Given the description of an element on the screen output the (x, y) to click on. 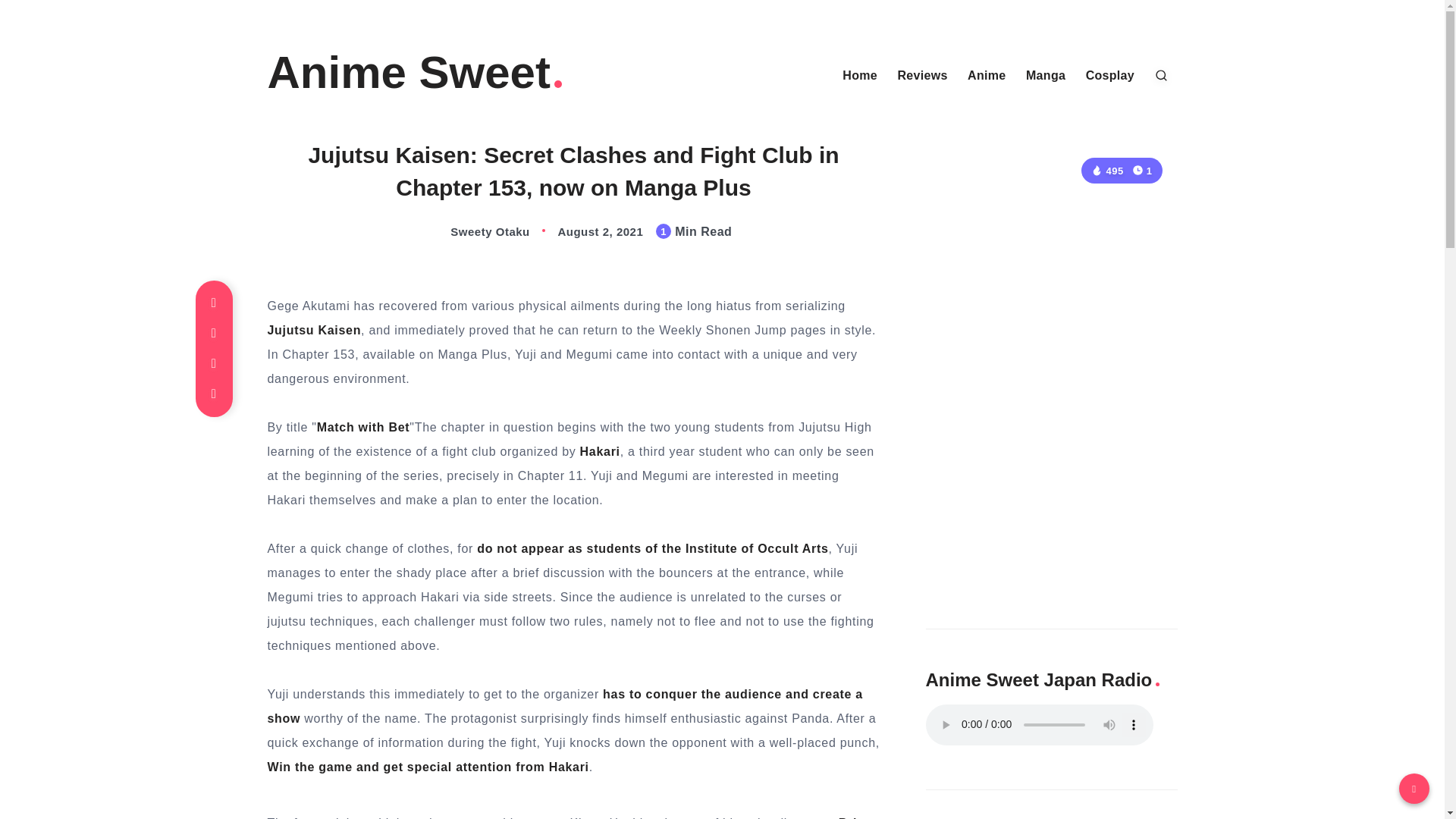
Sweety Otaku (474, 231)
Home (860, 75)
1 Min Read (1142, 170)
495 Views (1106, 170)
Manga (1045, 75)
Anime (987, 75)
Cosplay (1110, 75)
Author: Sweety Otaku (474, 231)
Anime Sweet (415, 72)
Reviews (921, 75)
